Given the description of an element on the screen output the (x, y) to click on. 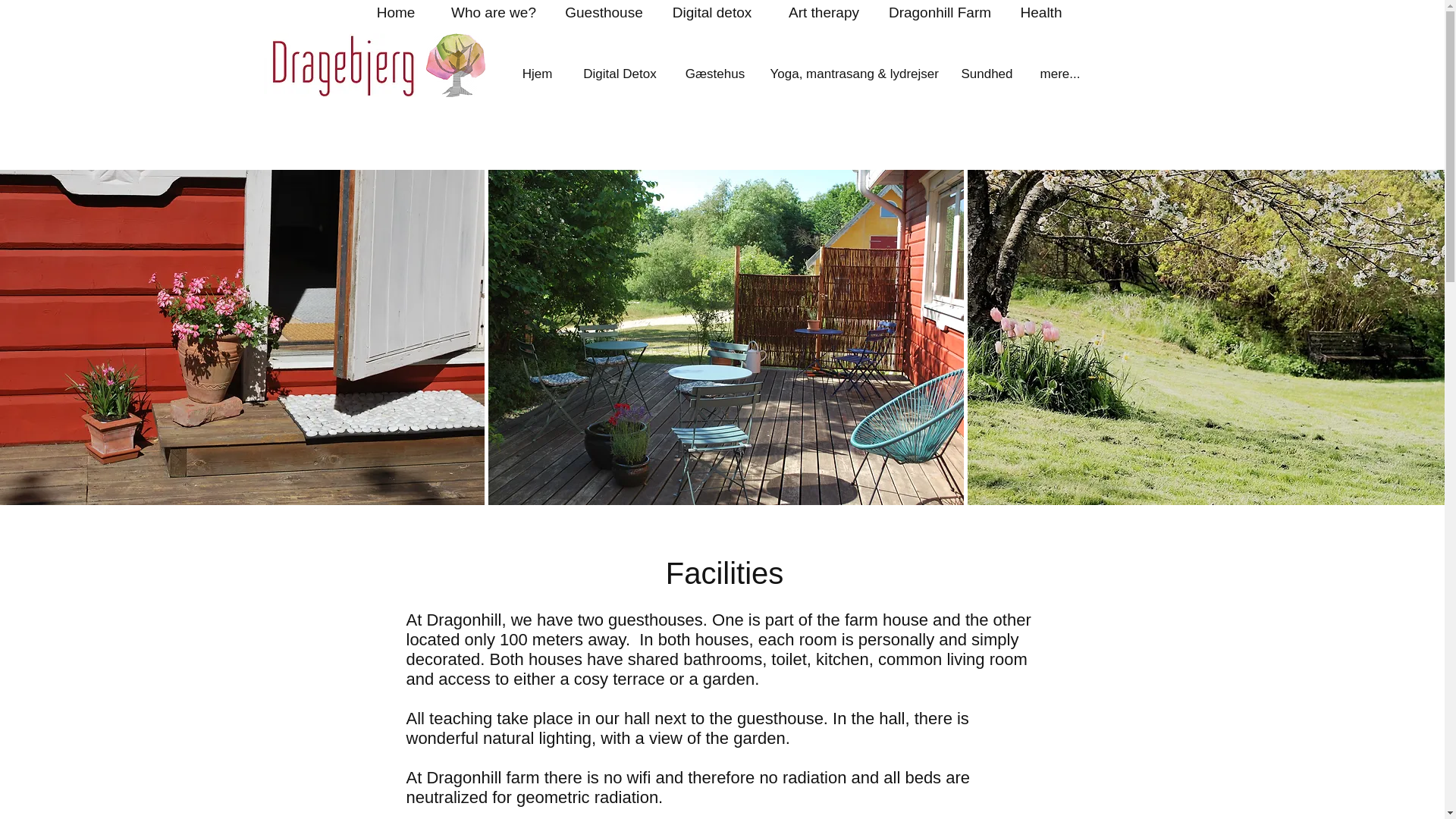
Dragonhill Farm (938, 14)
Art therapy (822, 14)
Health (1041, 14)
Digital detox (711, 14)
Who are we? (494, 14)
Guesthouse (603, 14)
Home (396, 14)
